Given the description of an element on the screen output the (x, y) to click on. 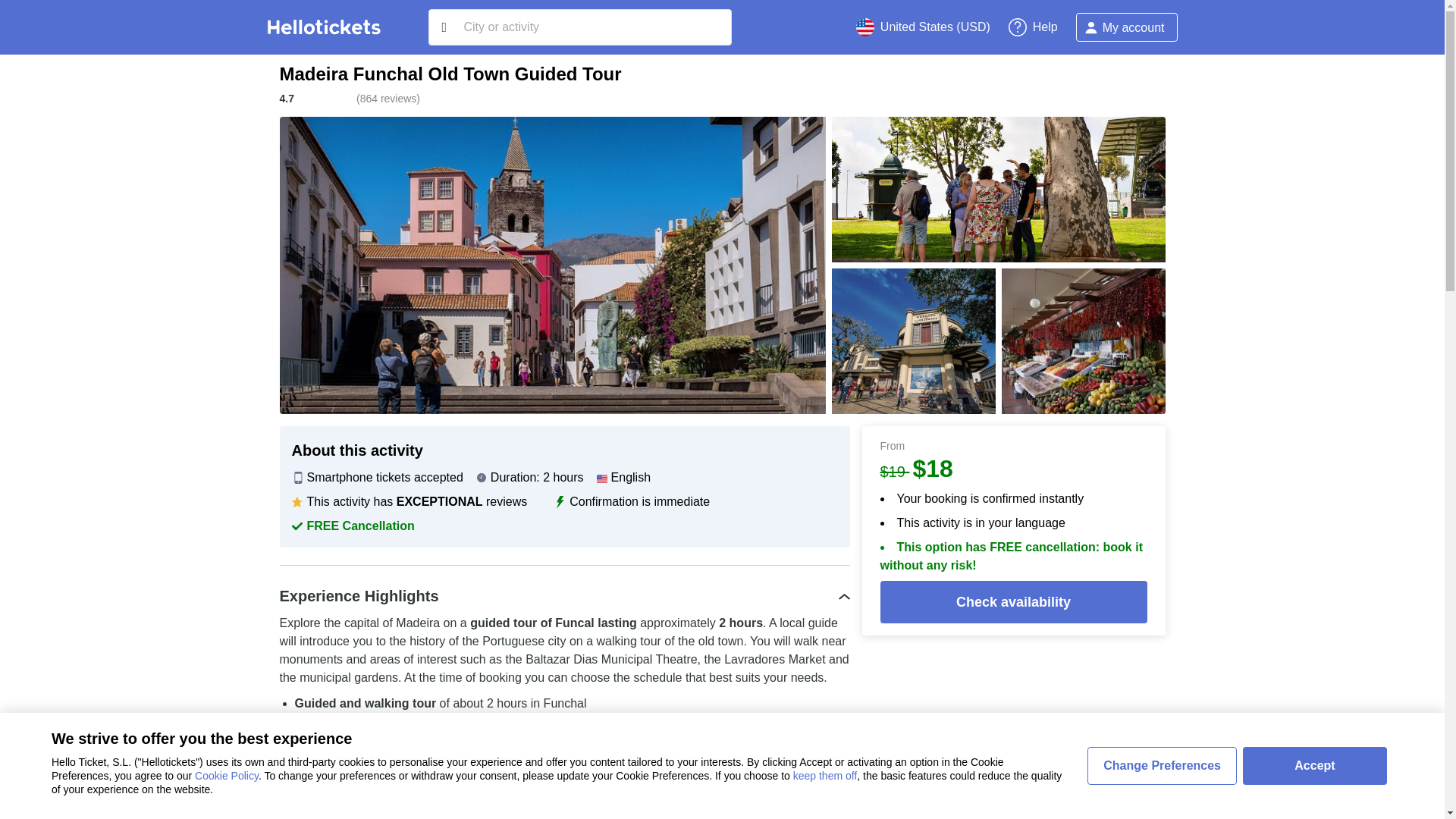
Help (1032, 27)
Accept (1315, 765)
Check availability (1013, 601)
Cookie Policy (227, 775)
My account (1126, 27)
Change Preferences (1161, 765)
